Given the description of an element on the screen output the (x, y) to click on. 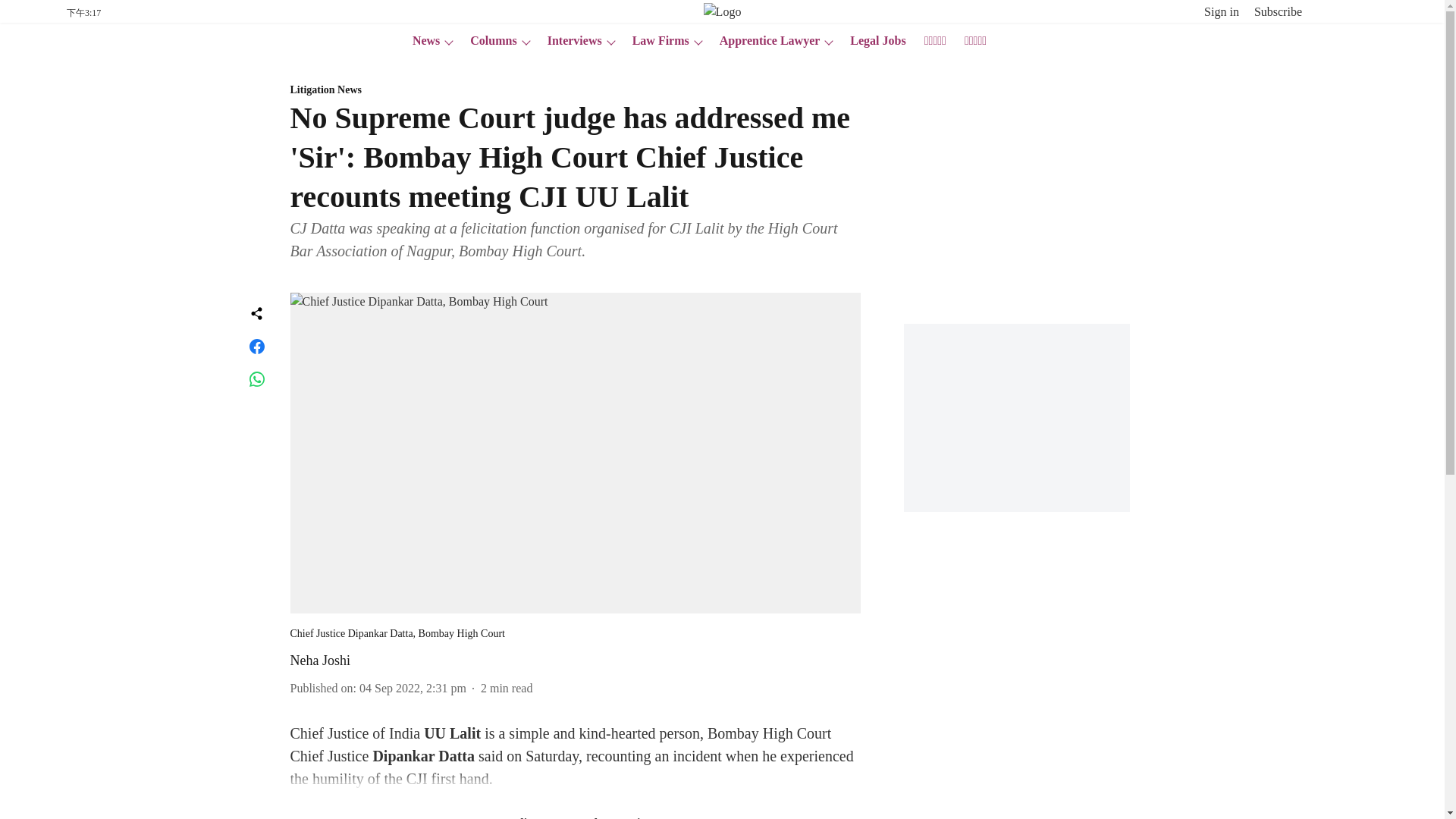
News (421, 40)
Law Firms (655, 40)
2022-09-04 06:31 (412, 687)
Litigation News (574, 90)
Interviews (570, 40)
Legal Jobs (873, 40)
Columns (488, 40)
Neha Joshi (319, 660)
Apprentice Lawyer (765, 40)
